Given the description of an element on the screen output the (x, y) to click on. 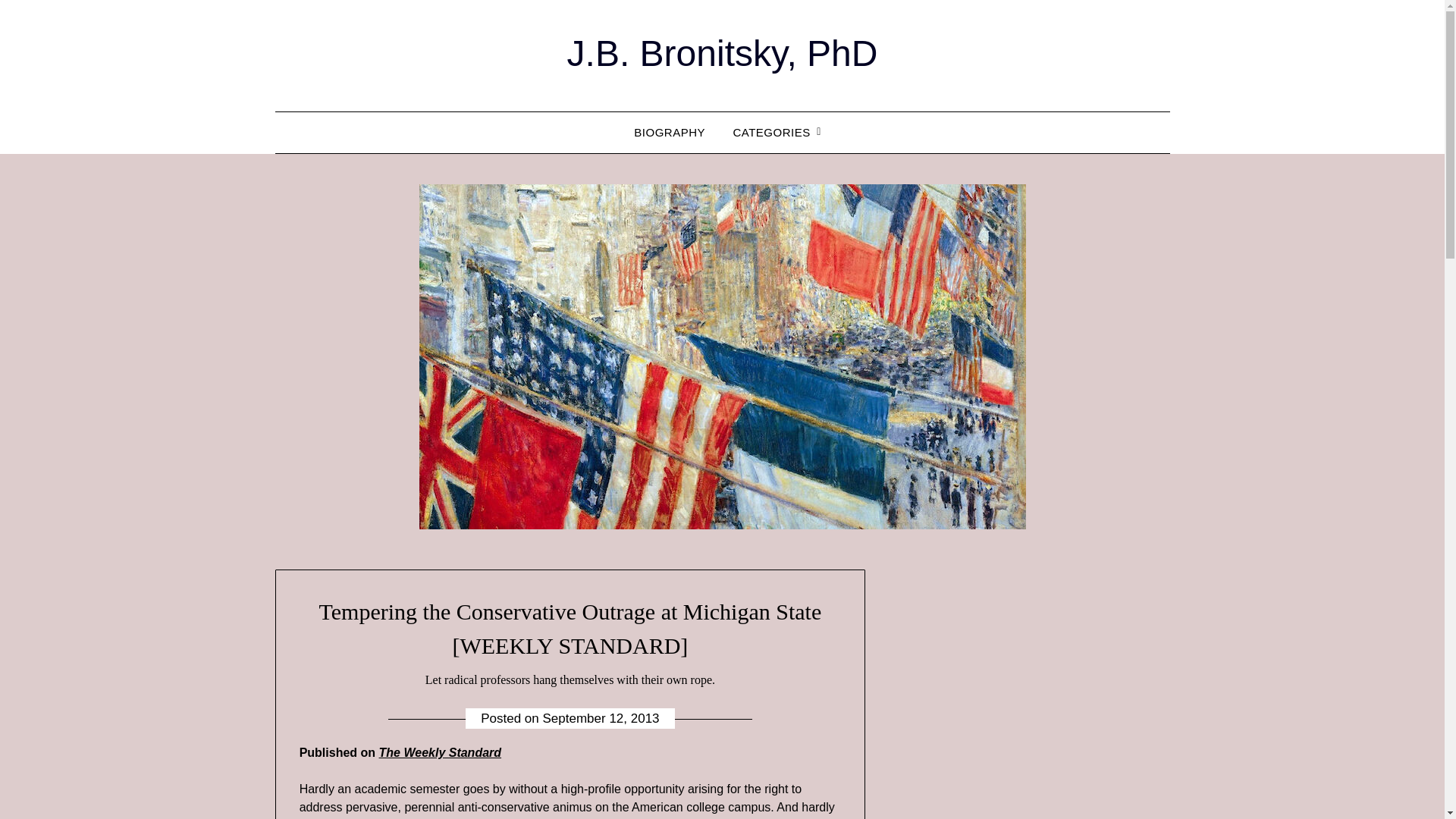
September 12, 2013 (601, 718)
CATEGORIES (771, 132)
J.B. Bronitsky, PhD (722, 53)
BIOGRAPHY (669, 132)
The Weekly Standard (440, 752)
